Given the description of an element on the screen output the (x, y) to click on. 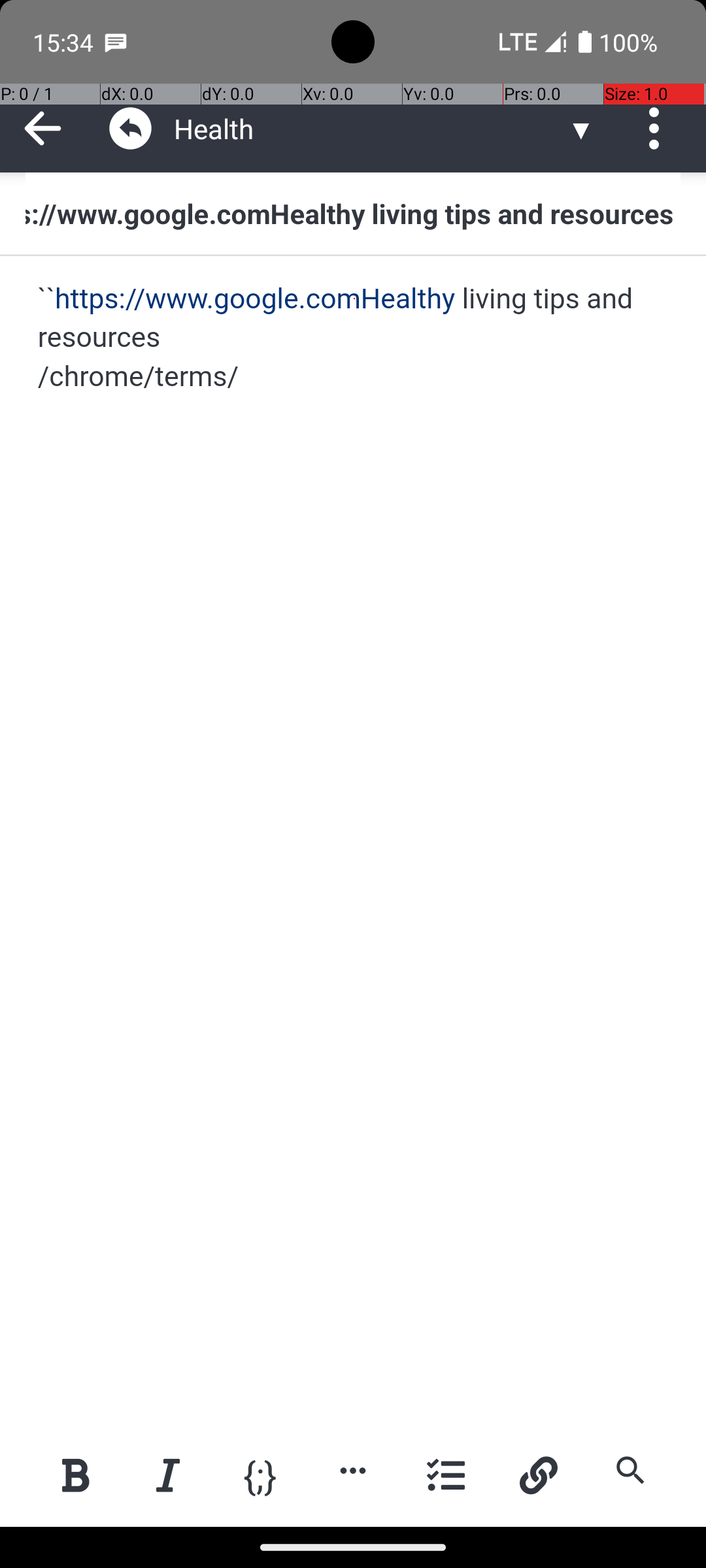
https://www.google.comHealthy living tips and resources Element type: android.widget.EditText (352, 213)
 Element type: android.widget.TextView (130, 127)
``https://www.google.comHealthy living tips and resources
/chrome/terms/ Element type: android.widget.EditText (354, 338)
SMS Messenger notification: +15505050843 Element type: android.widget.ImageView (115, 41)
